Given the description of an element on the screen output the (x, y) to click on. 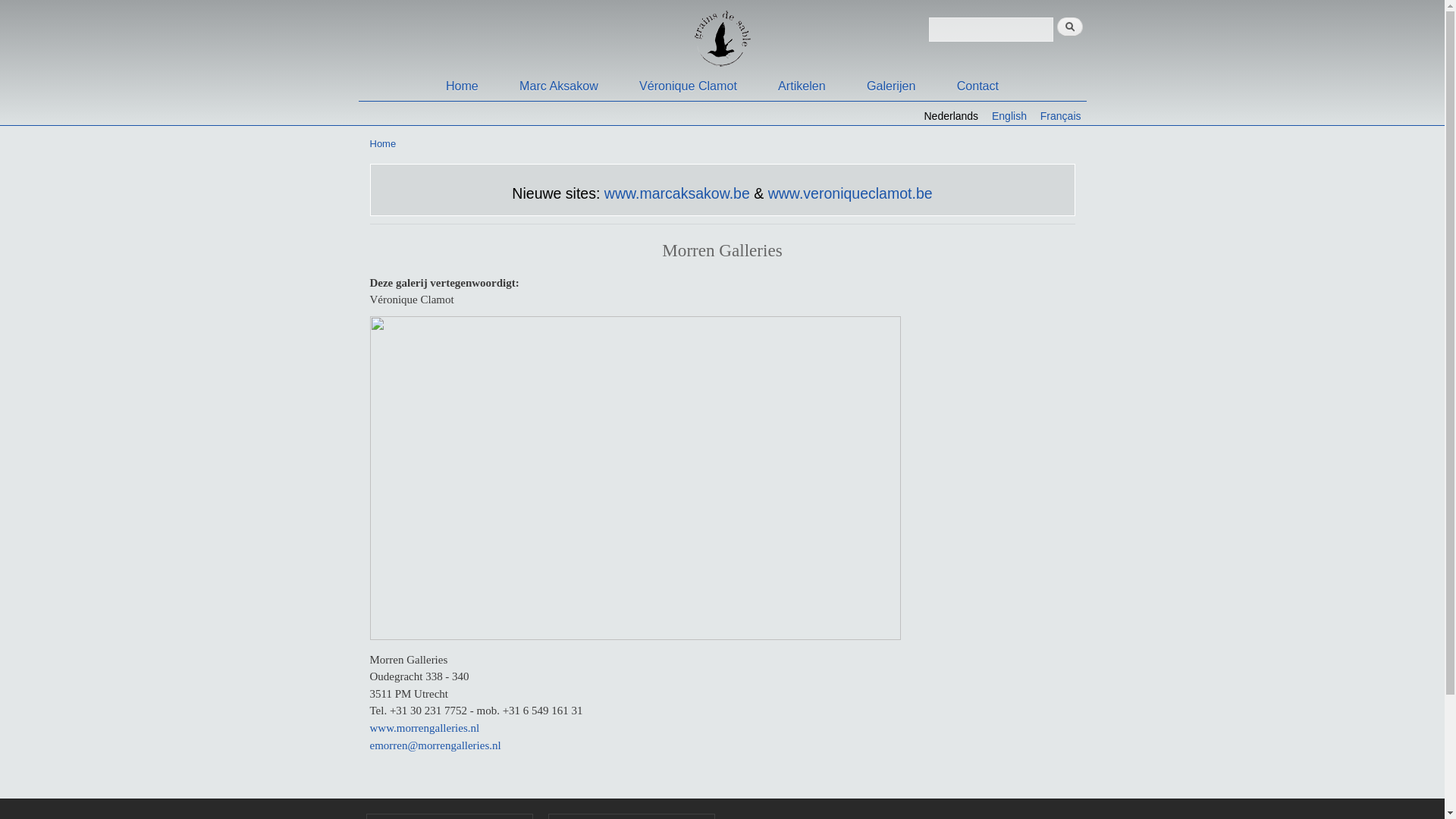
www.marcaksakow.be Element type: text (676, 193)
Marc Aksakow Element type: text (558, 85)
Contact Element type: text (977, 85)
www.morrengalleries.nl Element type: text (425, 727)
Zoeken Element type: text (1069, 26)
English Element type: text (1008, 115)
Artikelen Element type: text (801, 85)
Geef de woorden op waarnaar u wilt zoeken. Element type: hover (990, 29)
www.veroniqueclamot.be Element type: text (850, 193)
Home Element type: text (383, 143)
Galerijen Element type: text (890, 85)
Overslaan en naar de inhoud gaan Element type: text (696, 1)
Home Element type: text (462, 85)
Nederlands Element type: text (950, 115)
Home Element type: hover (559, 35)
emorren@morrengalleries.nl Element type: text (435, 745)
